Given the description of an element on the screen output the (x, y) to click on. 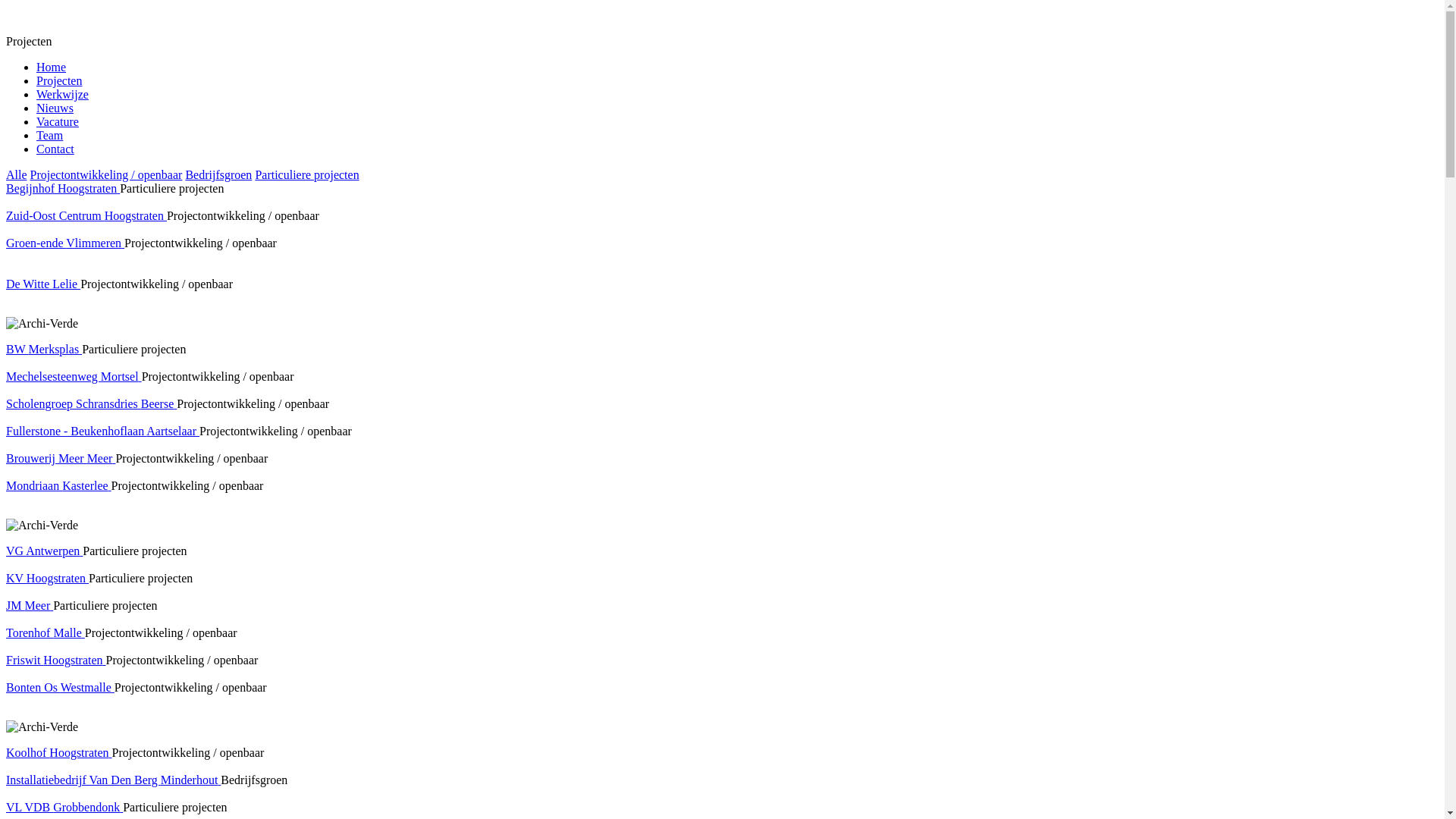
Friswit Hoogstraten Element type: text (56, 659)
Bedrijfsgroen Element type: text (218, 174)
Zuid-Oost Centrum Hoogstraten Element type: text (86, 215)
Installatiebedrijf Van Den Berg Minderhout Element type: text (113, 779)
Projectontwikkeling / openbaar Element type: text (106, 174)
Begijnhof Hoogstraten Element type: text (62, 188)
Koolhof Hoogstraten Element type: text (59, 752)
Scholengroep Schransdries Beerse Element type: text (91, 403)
Mechelsesteenweg Mortsel Element type: text (73, 376)
Mondriaan Kasterlee Element type: text (58, 485)
VL VDB Grobbendonk Element type: text (64, 806)
KV Hoogstraten Element type: text (47, 577)
Home Element type: text (50, 66)
Brouwerij Meer Meer Element type: text (60, 457)
Projecten Element type: text (58, 80)
Bonten Os Westmalle Element type: text (60, 686)
Particuliere projecten Element type: text (306, 174)
Alle Element type: text (16, 174)
Werkwijze Element type: text (62, 93)
Torenhof Malle Element type: text (45, 632)
Team Element type: text (49, 134)
De Witte Lelie Element type: text (43, 283)
BW Merksplas Element type: text (43, 348)
Vacature Element type: text (57, 121)
JM Meer Element type: text (29, 605)
Fullerstone - Beukenhoflaan Aartselaar Element type: text (102, 430)
VG Antwerpen Element type: text (44, 550)
Groen-ende Vlimmeren Element type: text (65, 242)
Contact Element type: text (55, 148)
Nieuws Element type: text (54, 107)
